Given the description of an element on the screen output the (x, y) to click on. 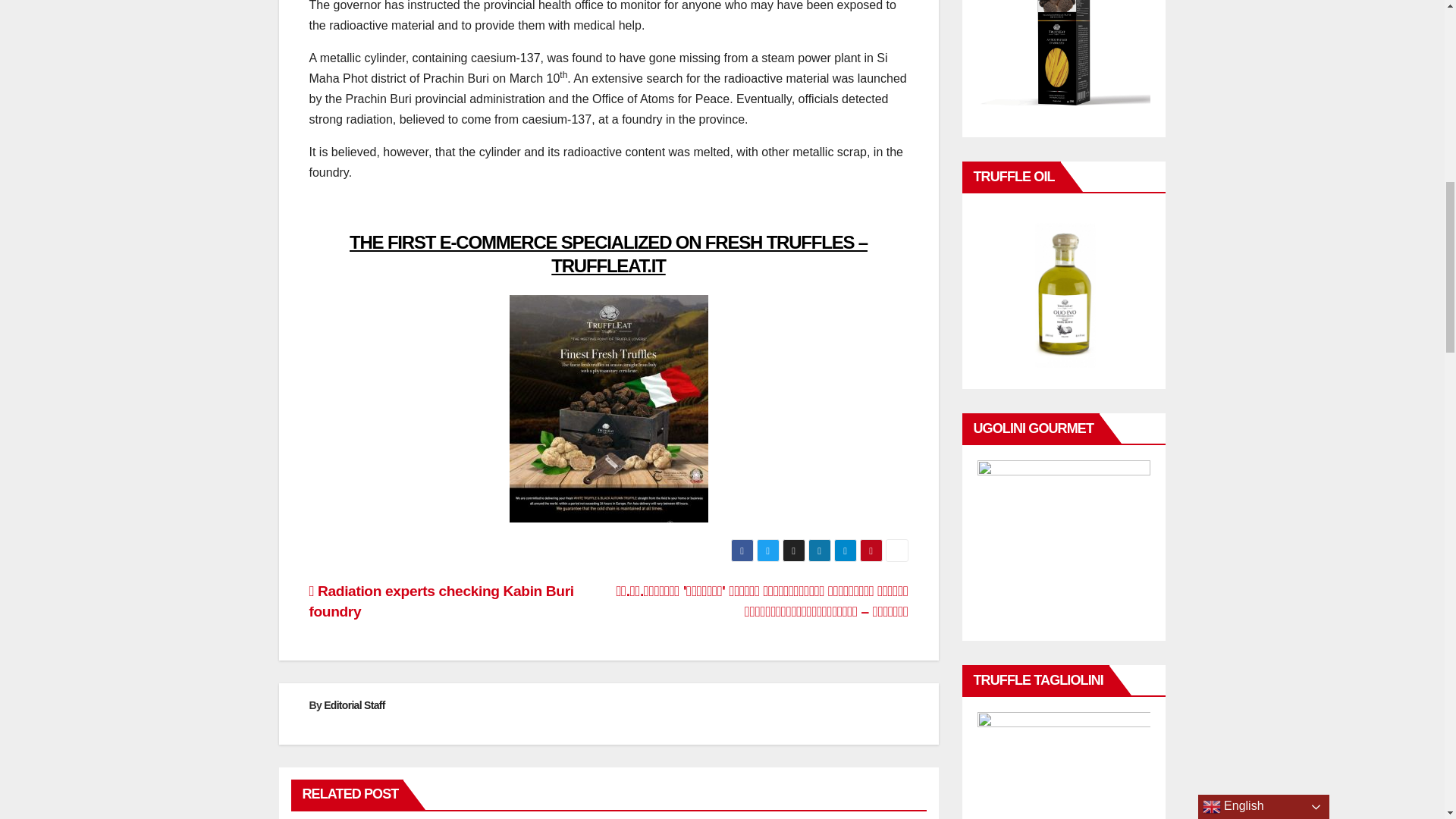
Editorial Staff (354, 705)
Radiation experts checking Kabin Buri foundry (440, 601)
